Given the description of an element on the screen output the (x, y) to click on. 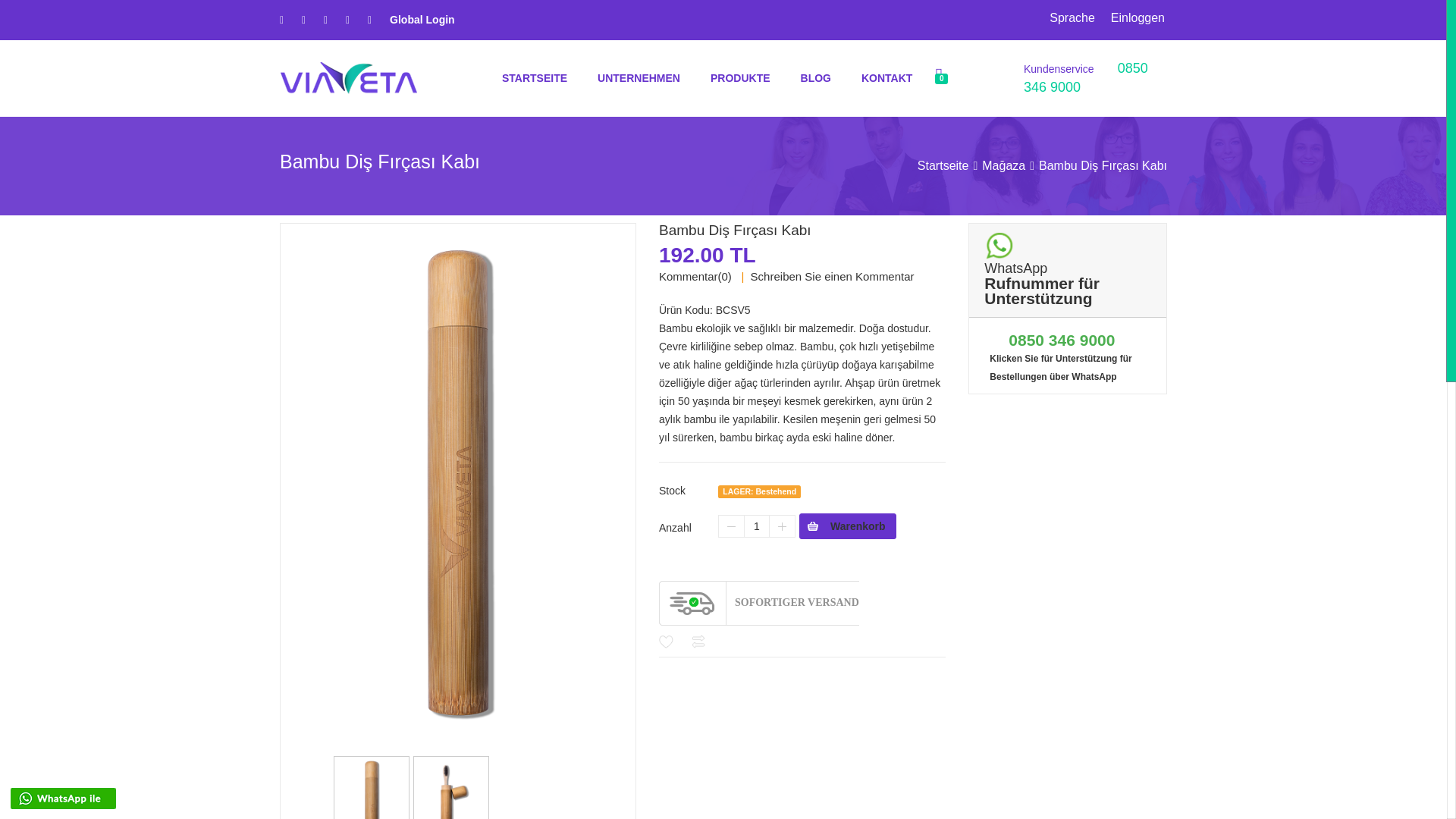
Warenkorb (847, 525)
Schreiben Sie einen Kommentar (832, 276)
PRODUKTE (740, 77)
STARTSEITE (534, 77)
STARTSEITE  (534, 77)
Sprache (1071, 18)
Startseite (943, 164)
0850 346 9000 (1085, 77)
1 (756, 526)
ViaVeta UNTERNEHMEN  (637, 77)
Kommentar (688, 276)
- (730, 526)
Einloggen (1137, 18)
ViaVeta Login (422, 19)
Global Login (422, 19)
